Given the description of an element on the screen output the (x, y) to click on. 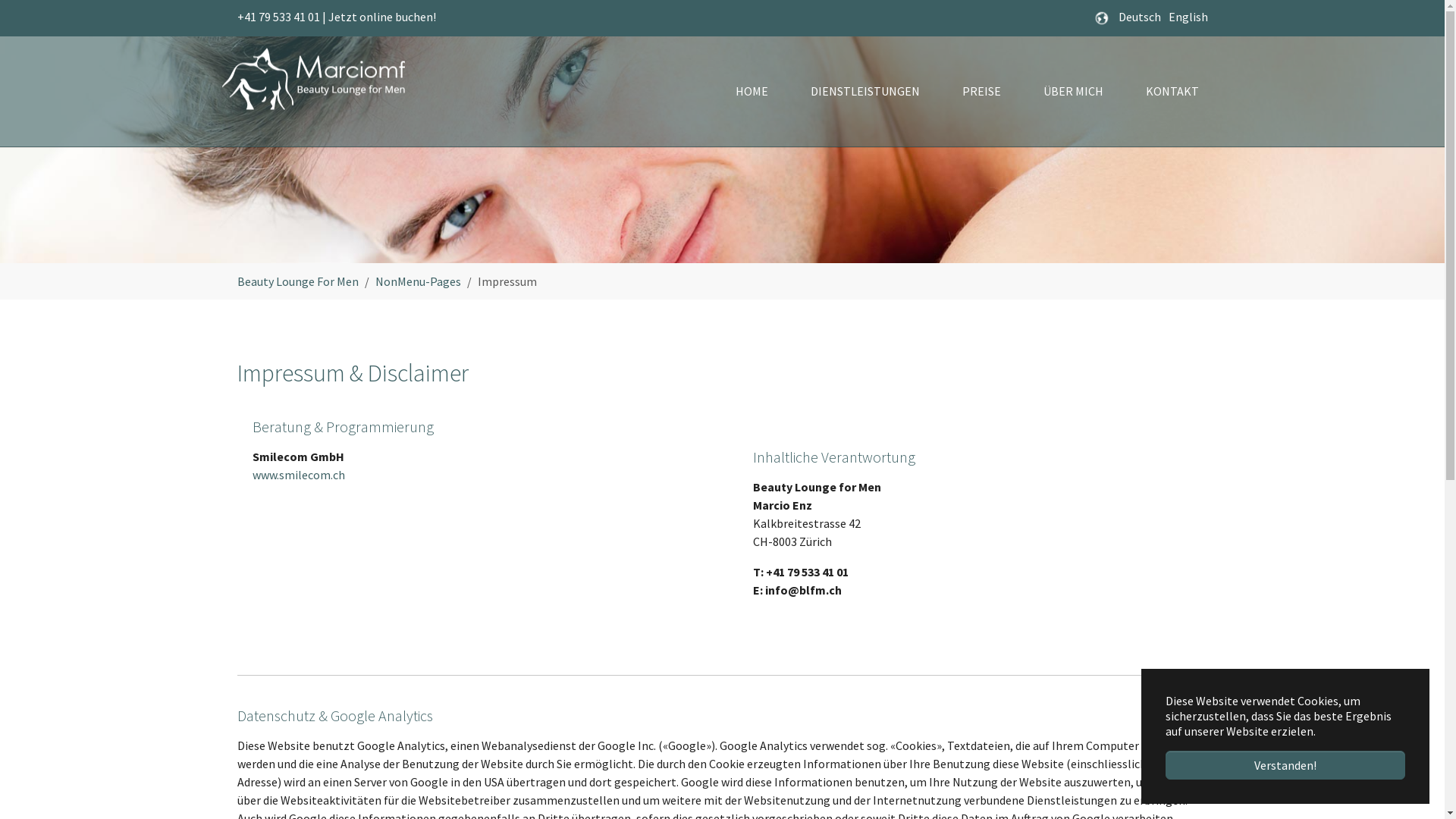
www.smilecom.ch Element type: text (297, 474)
HOME Element type: text (751, 90)
English Element type: text (1187, 16)
Deutsch Element type: text (1138, 16)
NonMenu-Pages Element type: text (417, 280)
+41 79 533 41 01 Element type: text (277, 16)
KONTAKT Element type: text (1171, 90)
Verstanden! Element type: text (1285, 764)
DIENSTLEISTUNGEN Element type: text (864, 90)
Beauty Lounge For Men Element type: text (296, 280)
PREISE Element type: text (980, 90)
Jetzt online buchen! Element type: text (381, 16)
